Given the description of an element on the screen output the (x, y) to click on. 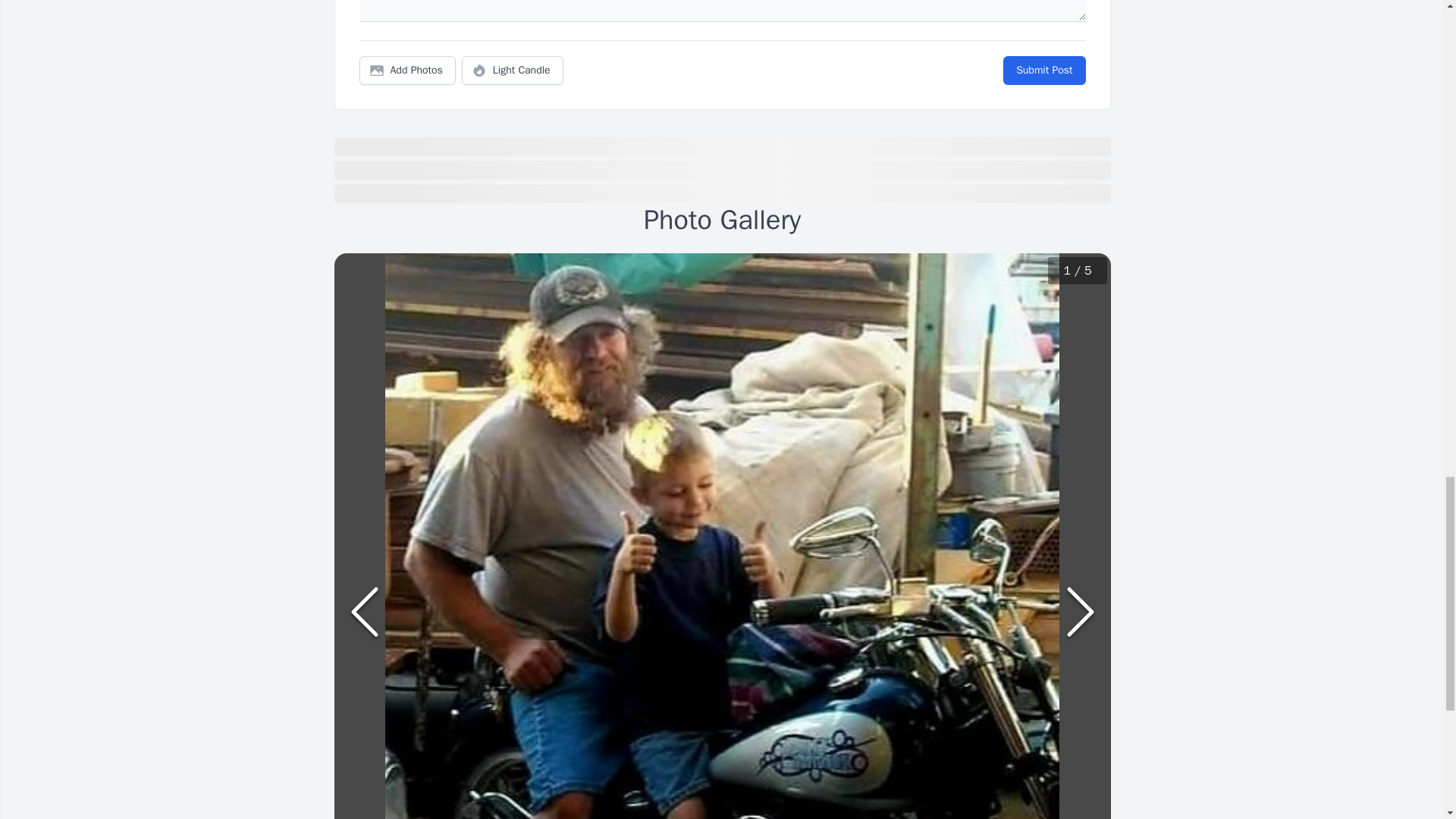
Light Candle (512, 70)
Add Photos (407, 70)
Submit Post (1043, 70)
